Given the description of an element on the screen output the (x, y) to click on. 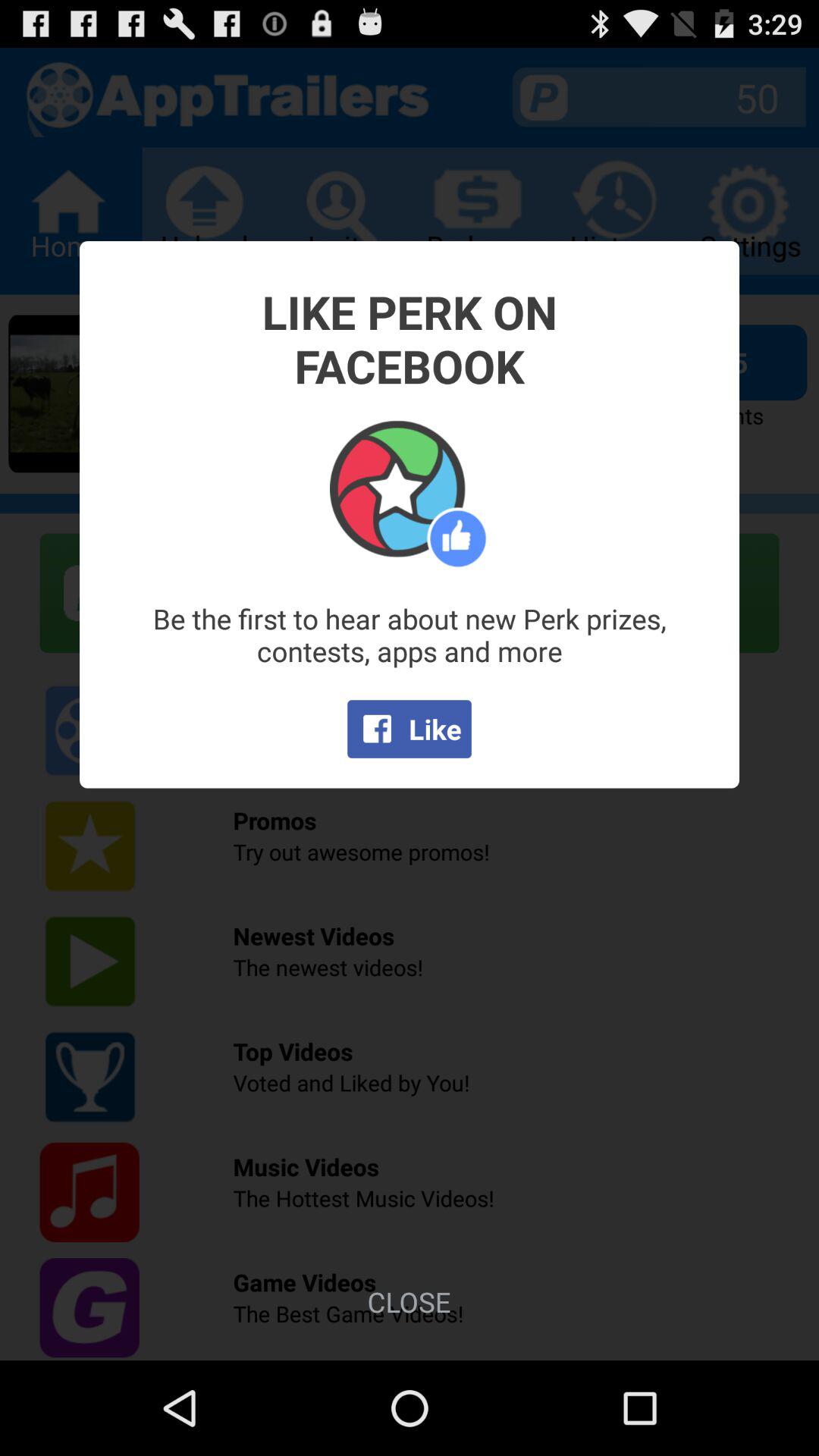
choose close icon (409, 1301)
